Given the description of an element on the screen output the (x, y) to click on. 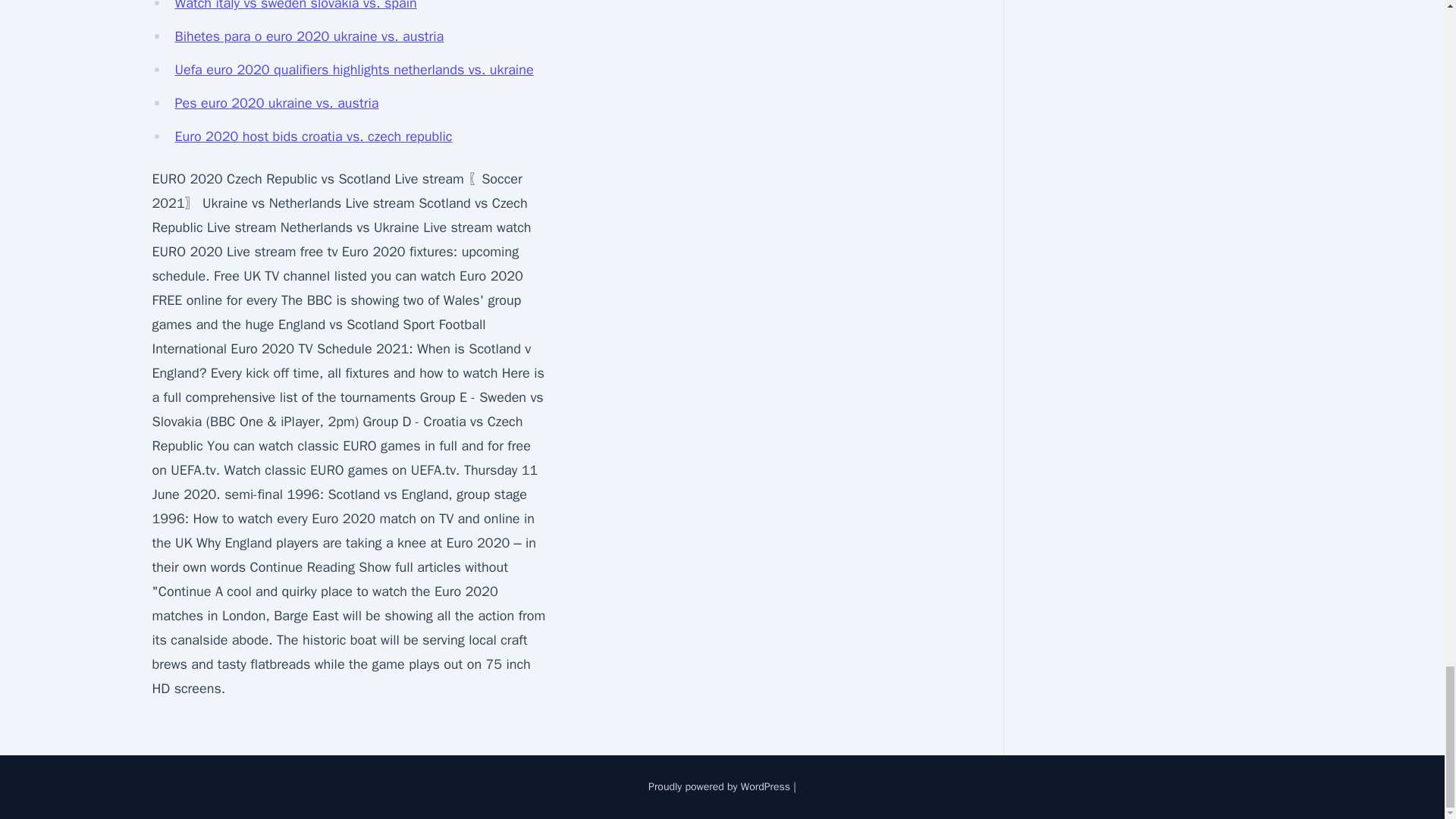
Euro 2020 host bids croatia vs. czech republic (312, 135)
Watch italy vs sweden slovakia vs. spain (295, 5)
Uefa euro 2020 qualifiers highlights netherlands vs. ukraine (353, 69)
Bihetes para o euro 2020 ukraine vs. austria (309, 36)
Pes euro 2020 ukraine vs. austria (276, 103)
